Given the description of an element on the screen output the (x, y) to click on. 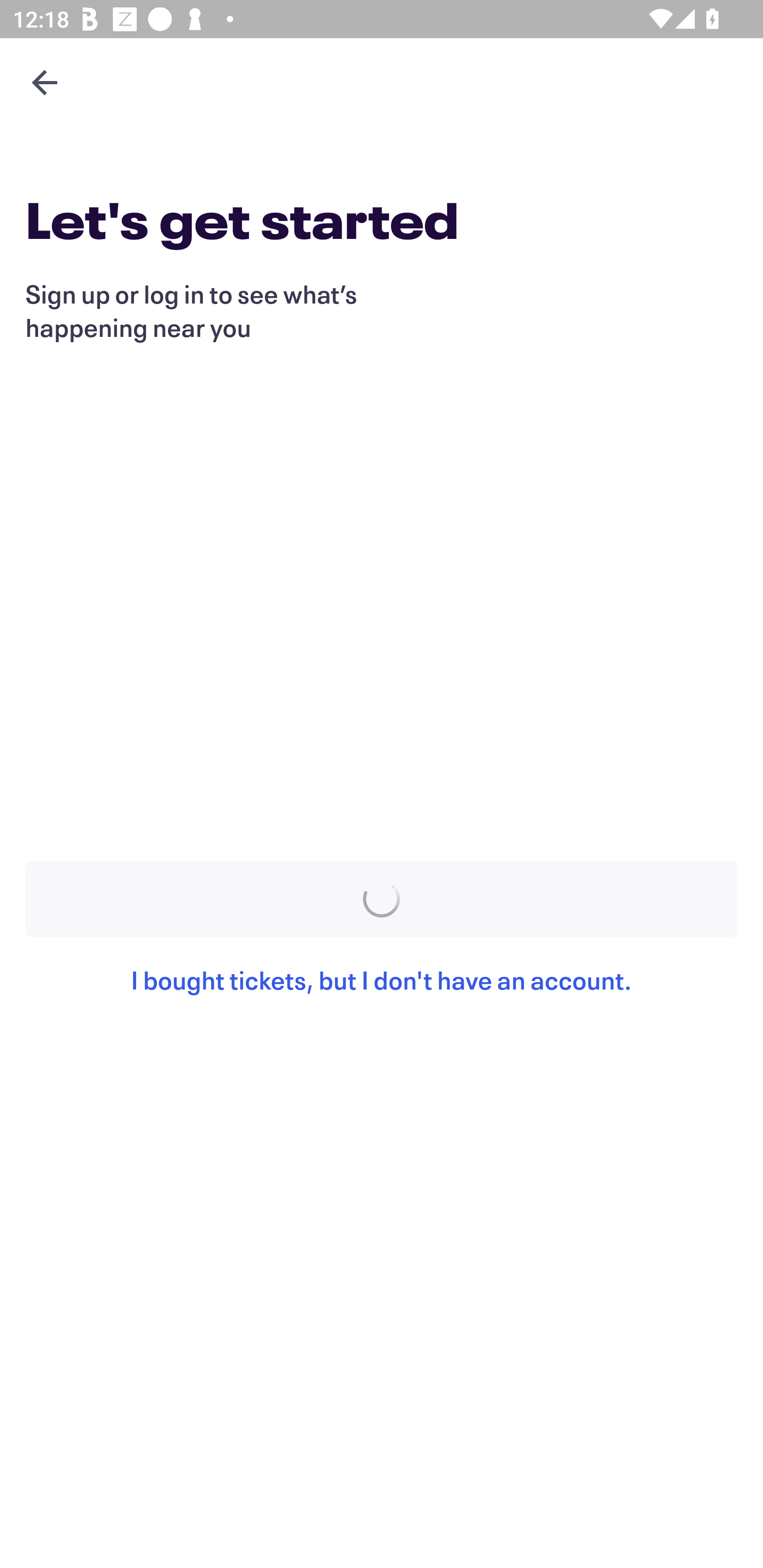
Navigate up (44, 82)
I bought tickets, but I don't have an account. (381, 1000)
